Given the description of an element on the screen output the (x, y) to click on. 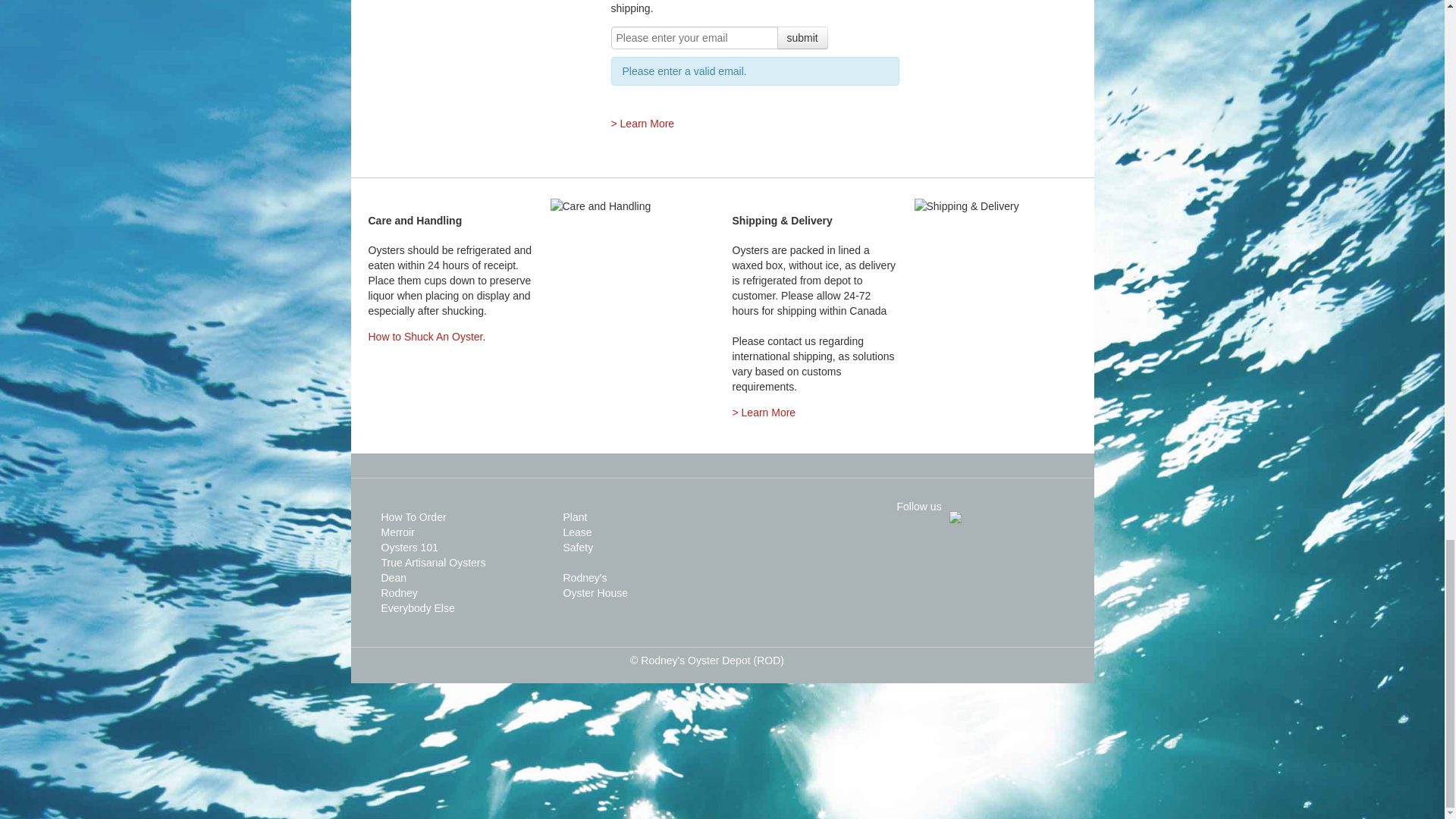
submit (801, 37)
How to Shuck An Oyster (425, 336)
Care and Handling (600, 206)
How to Shuck Video (425, 336)
How To Order (412, 517)
